Given the description of an element on the screen output the (x, y) to click on. 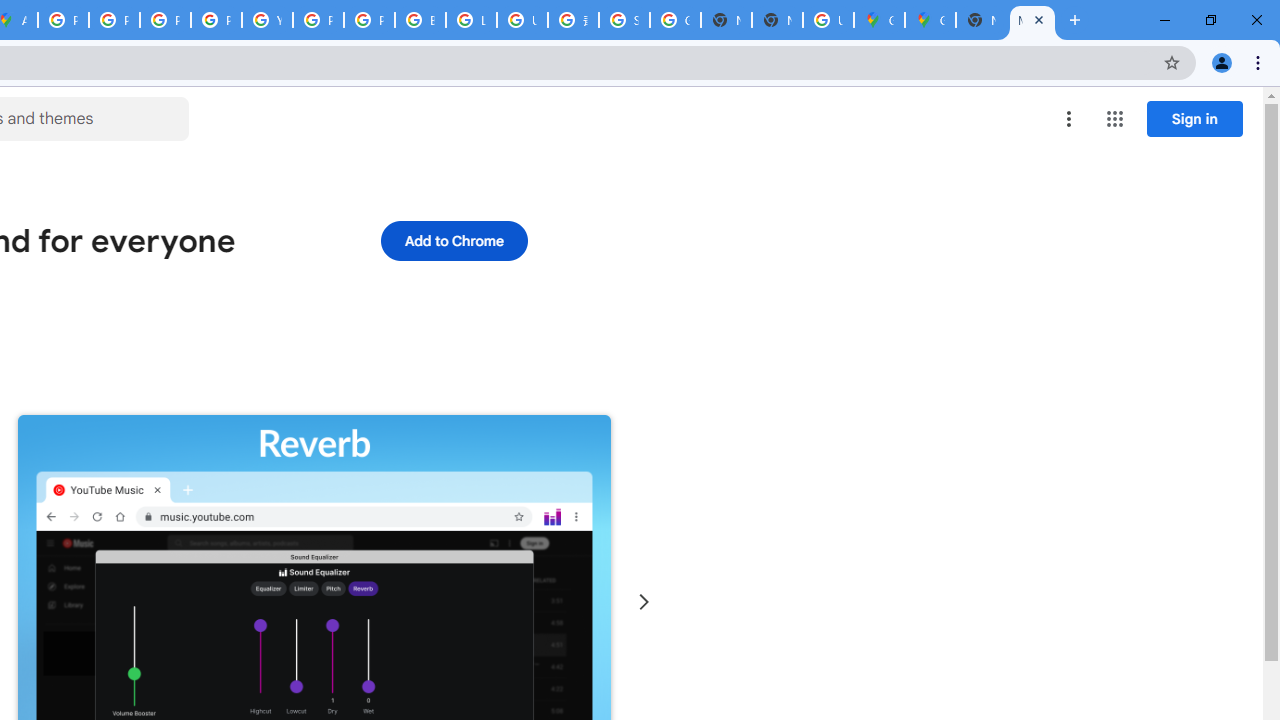
New Tab (776, 20)
New Tab (981, 20)
Next slide (643, 601)
Google Maps (930, 20)
Use Google Maps in Space - Google Maps Help (827, 20)
Sign in - Google Accounts (624, 20)
Privacy Help Center - Policies Help (113, 20)
Google Maps (878, 20)
Policy Accountability and Transparency - Transparency Center (63, 20)
